Given the description of an element on the screen output the (x, y) to click on. 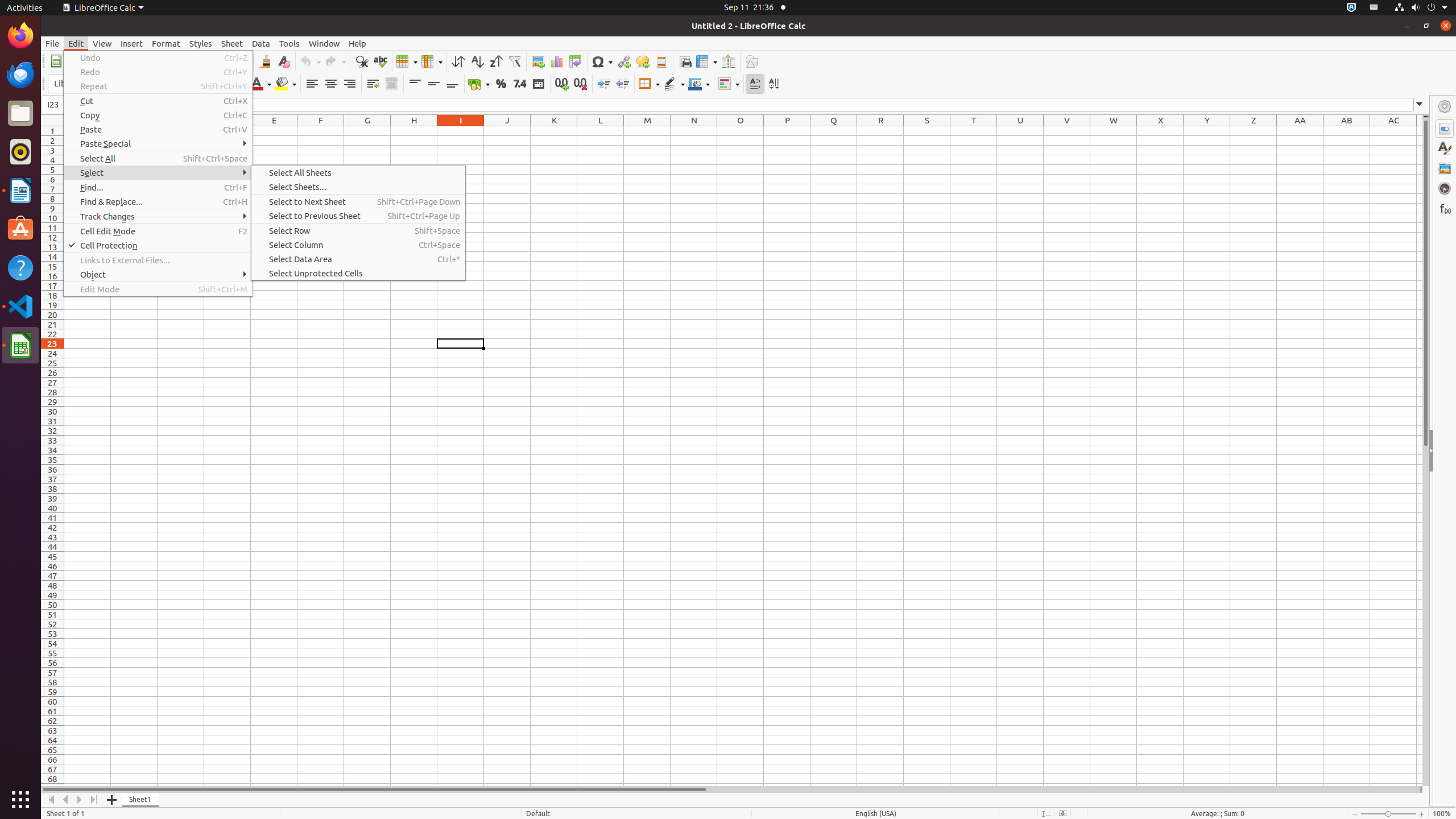
Functions Element type: radio-button (1444, 208)
Number Element type: push-button (519, 83)
Tools Element type: menu (289, 43)
Select Column Element type: menu-item (358, 244)
